Given the description of an element on the screen output the (x, y) to click on. 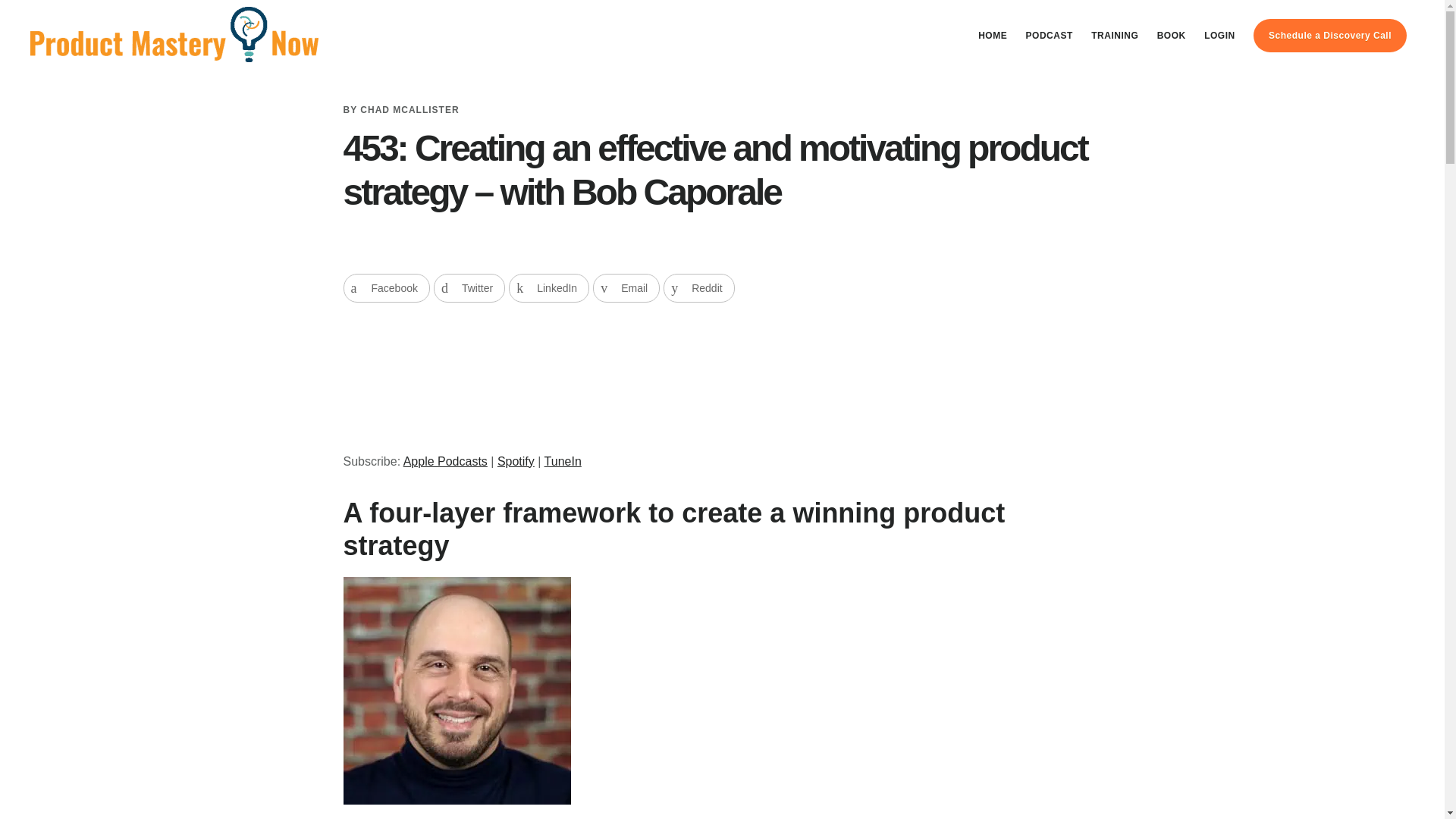
PRODUCT MASTERY NOW (174, 40)
Reddit (698, 287)
Share on Facebook (385, 287)
Share on LinkedIn (548, 287)
TuneIn (562, 461)
Facebook (385, 287)
Subscribe on Apple Podcasts (445, 461)
Twitter (469, 287)
BOOK (1171, 35)
